Given the description of an element on the screen output the (x, y) to click on. 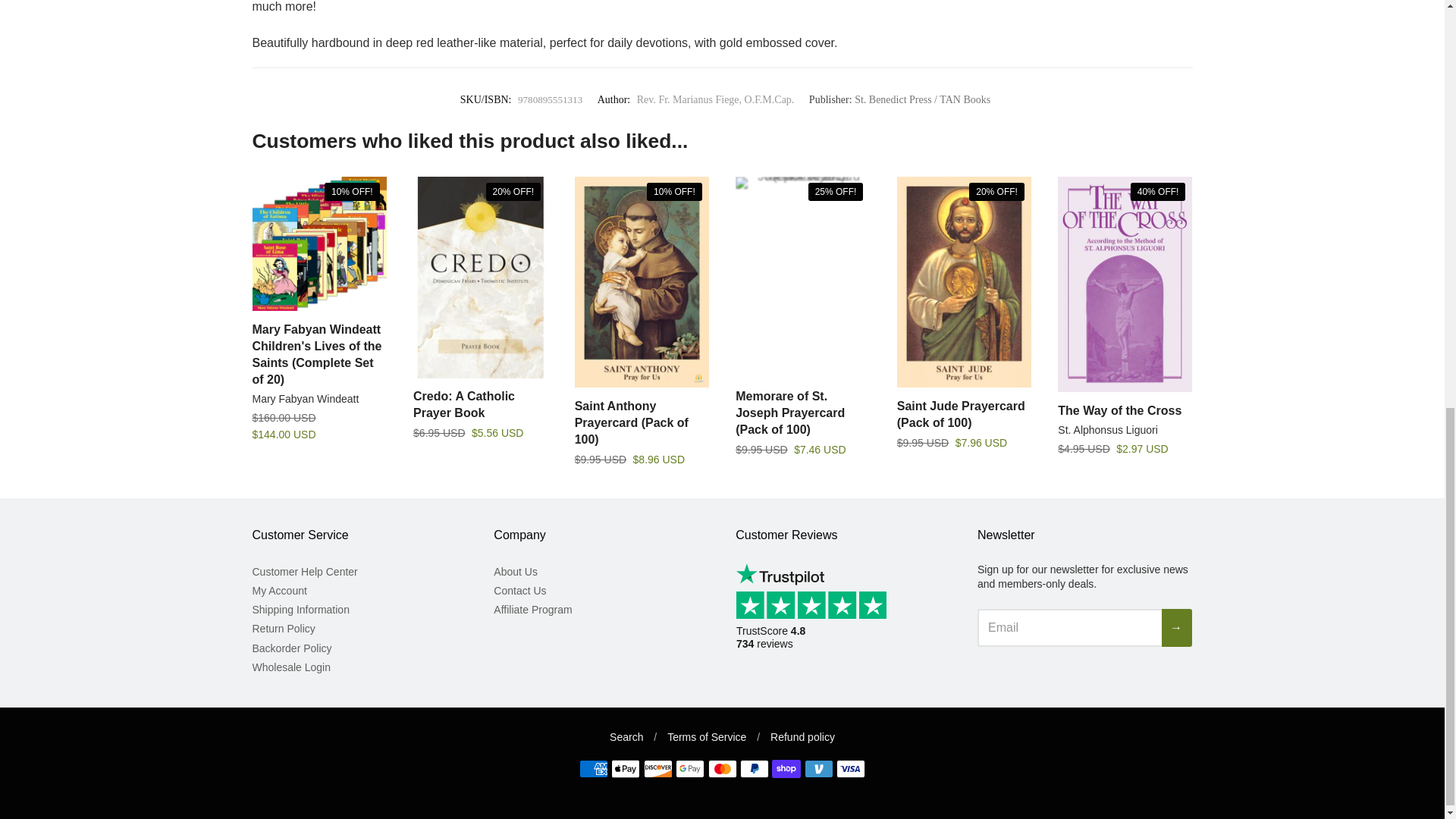
Credo: A Catholic Prayer Book (464, 404)
Visa (849, 769)
American Express (593, 769)
PayPal (753, 769)
Discover (657, 769)
Google Pay (689, 769)
The Way of the Cross (1119, 410)
Mastercard (721, 769)
Shop Pay (785, 769)
Apple Pay (625, 769)
Customer reviews powered by Trustpilot (815, 619)
Venmo (818, 769)
